Given the description of an element on the screen output the (x, y) to click on. 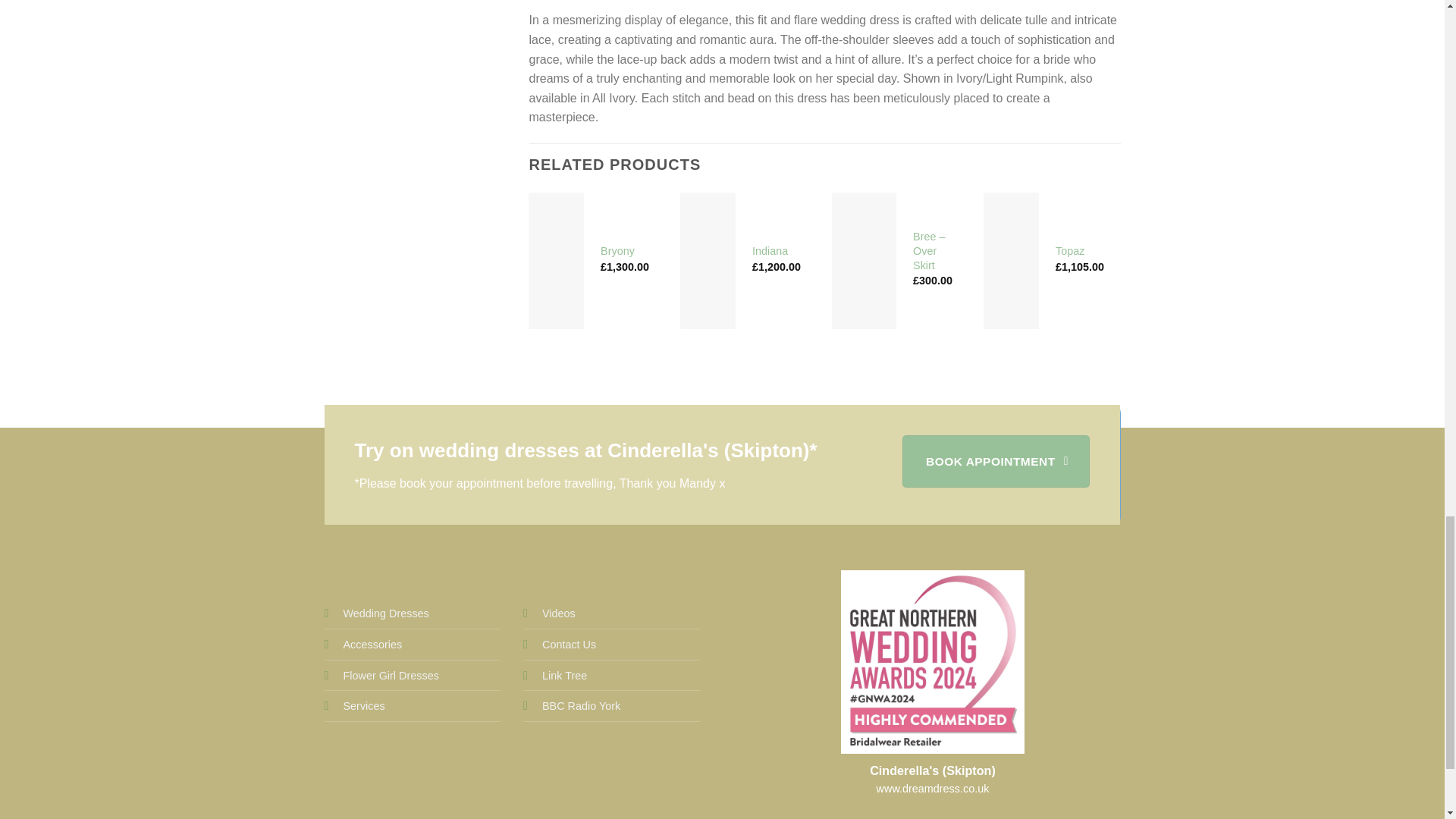
Indiana (769, 251)
Topaz (1069, 251)
Blythe (1222, 251)
Bryony (616, 251)
Leona (1382, 251)
